Given the description of an element on the screen output the (x, y) to click on. 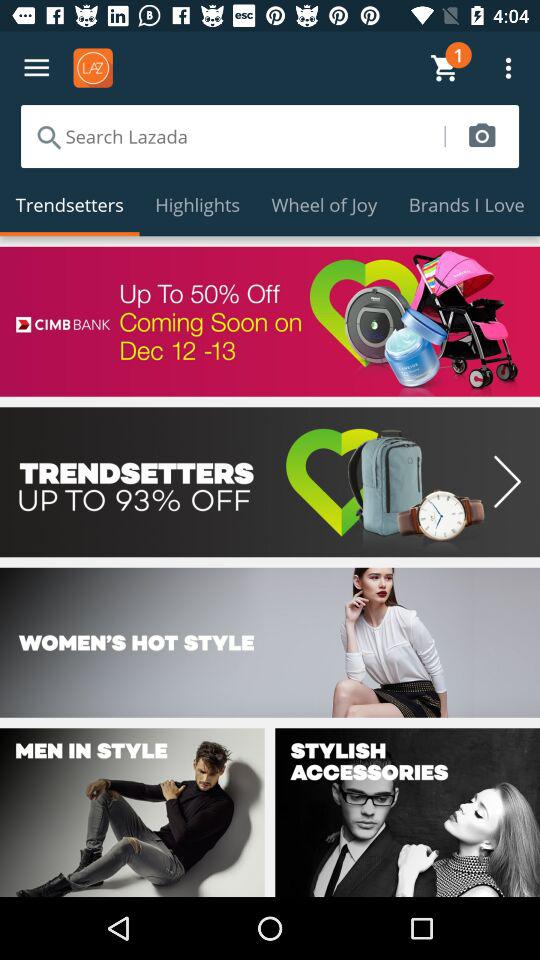
view sales (270, 482)
